Given the description of an element on the screen output the (x, y) to click on. 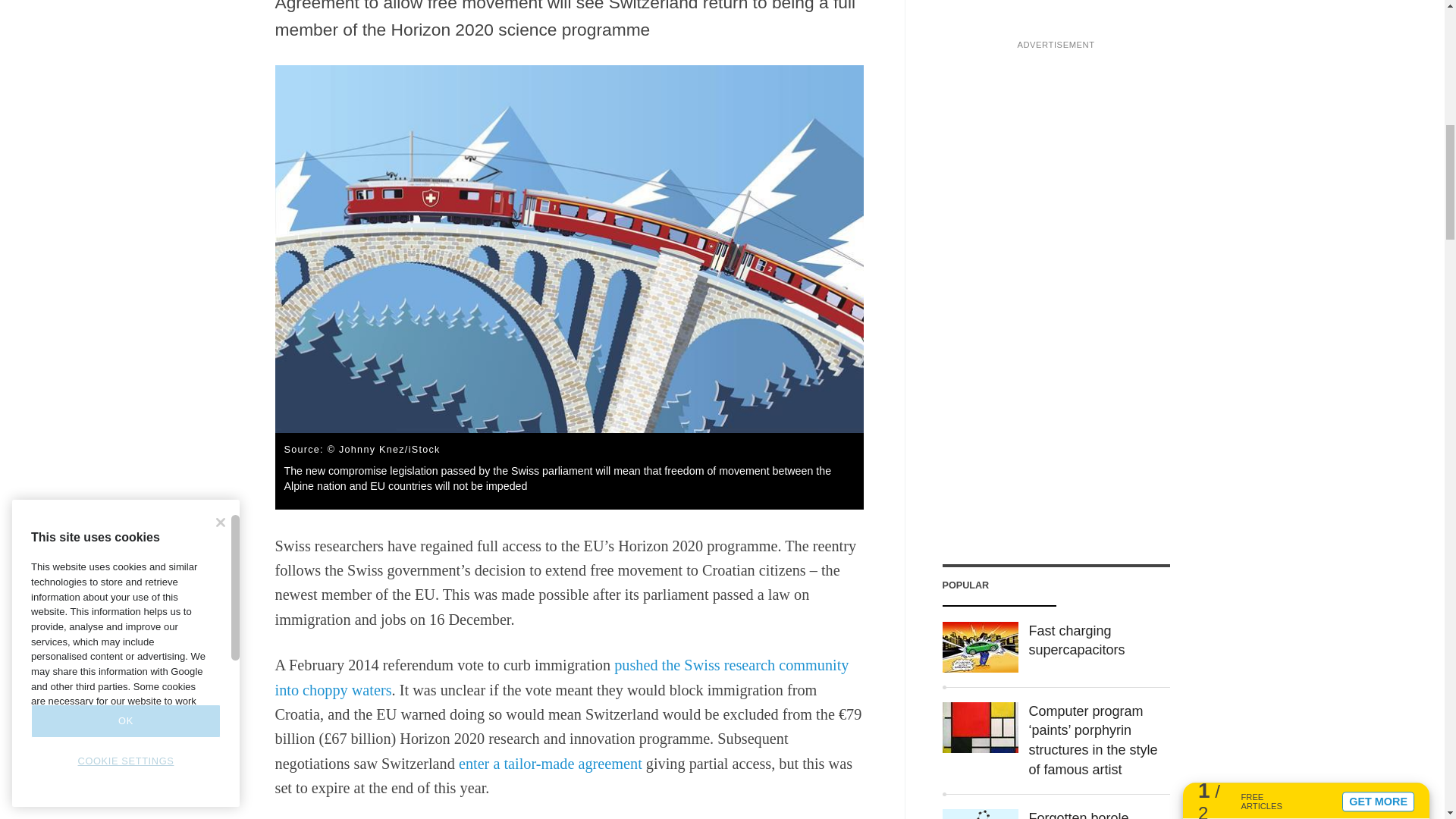
3rd party ad content (1055, 60)
